Given the description of an element on the screen output the (x, y) to click on. 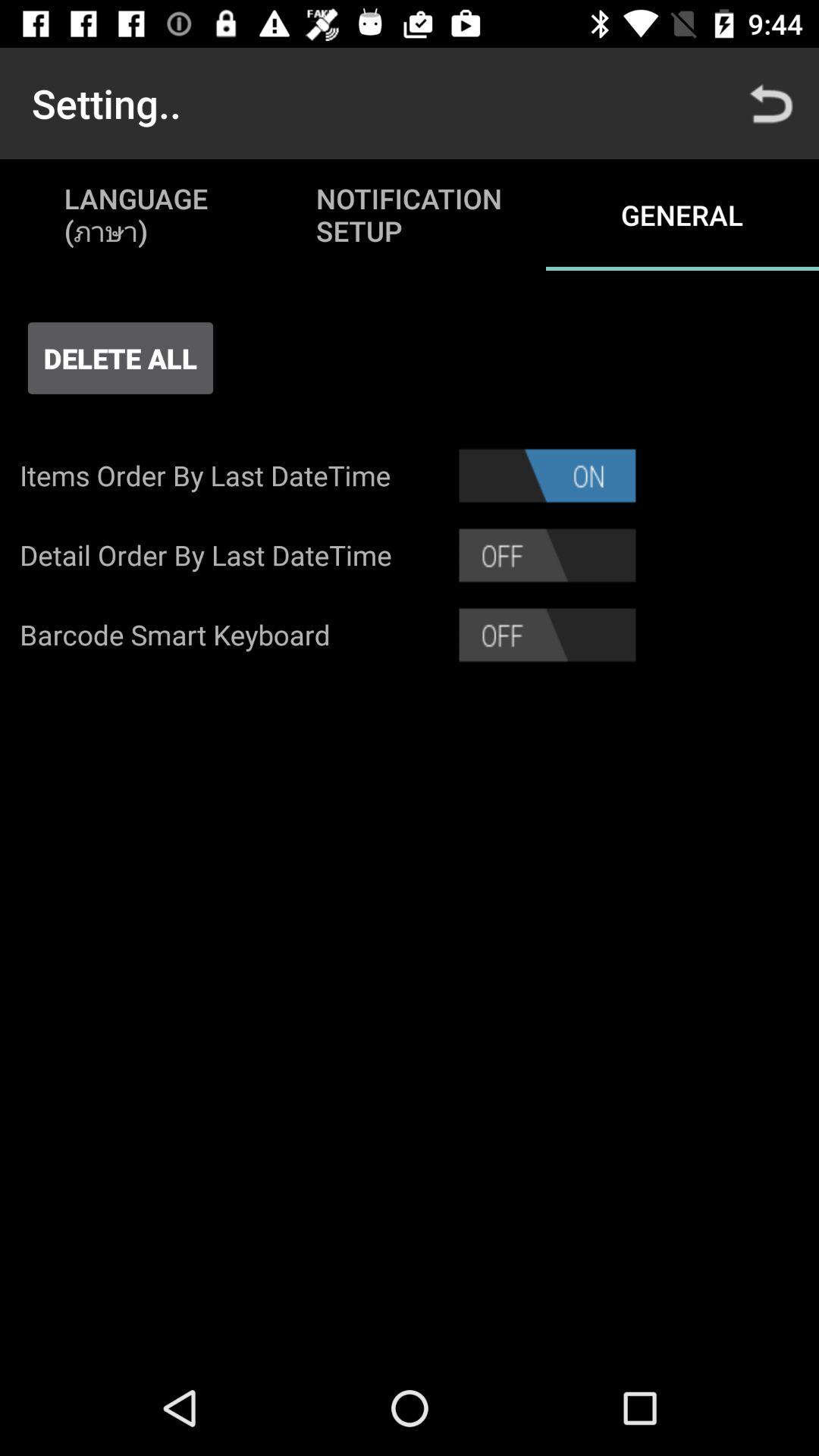
toggle barcode smart keyboard (547, 634)
